Given the description of an element on the screen output the (x, y) to click on. 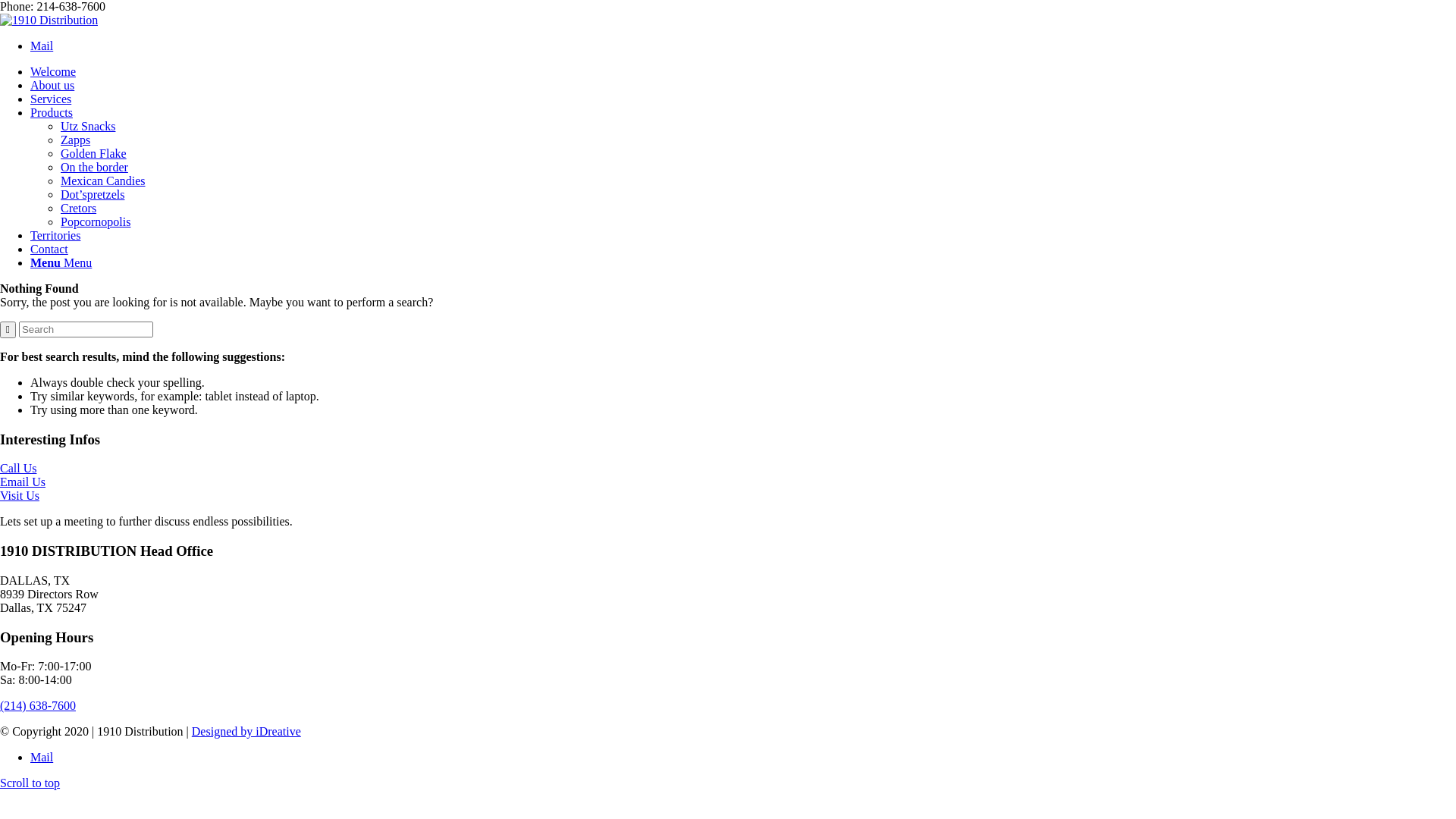
Contact Element type: text (49, 248)
Mail Element type: text (41, 756)
Visit Us Element type: text (19, 495)
Services Element type: text (50, 98)
Designed by iDreative Element type: text (246, 730)
Email Us Element type: text (22, 481)
Utz Snacks Element type: text (87, 125)
Golden Flake Element type: text (93, 153)
Zapps Element type: text (75, 139)
Popcornopolis Element type: text (95, 221)
Mail Element type: text (41, 45)
About us Element type: text (52, 84)
Menu Menu Element type: text (60, 262)
Products Element type: text (51, 112)
1910Logo Element type: hover (48, 20)
Call Us Element type: text (18, 467)
Welcome Element type: text (52, 71)
Cretors Element type: text (78, 207)
Territories Element type: text (55, 235)
On the border Element type: text (94, 166)
Scroll to top Element type: text (29, 782)
Mexican Candies Element type: text (102, 180)
(214) 638-7600 Element type: text (37, 705)
